Given the description of an element on the screen output the (x, y) to click on. 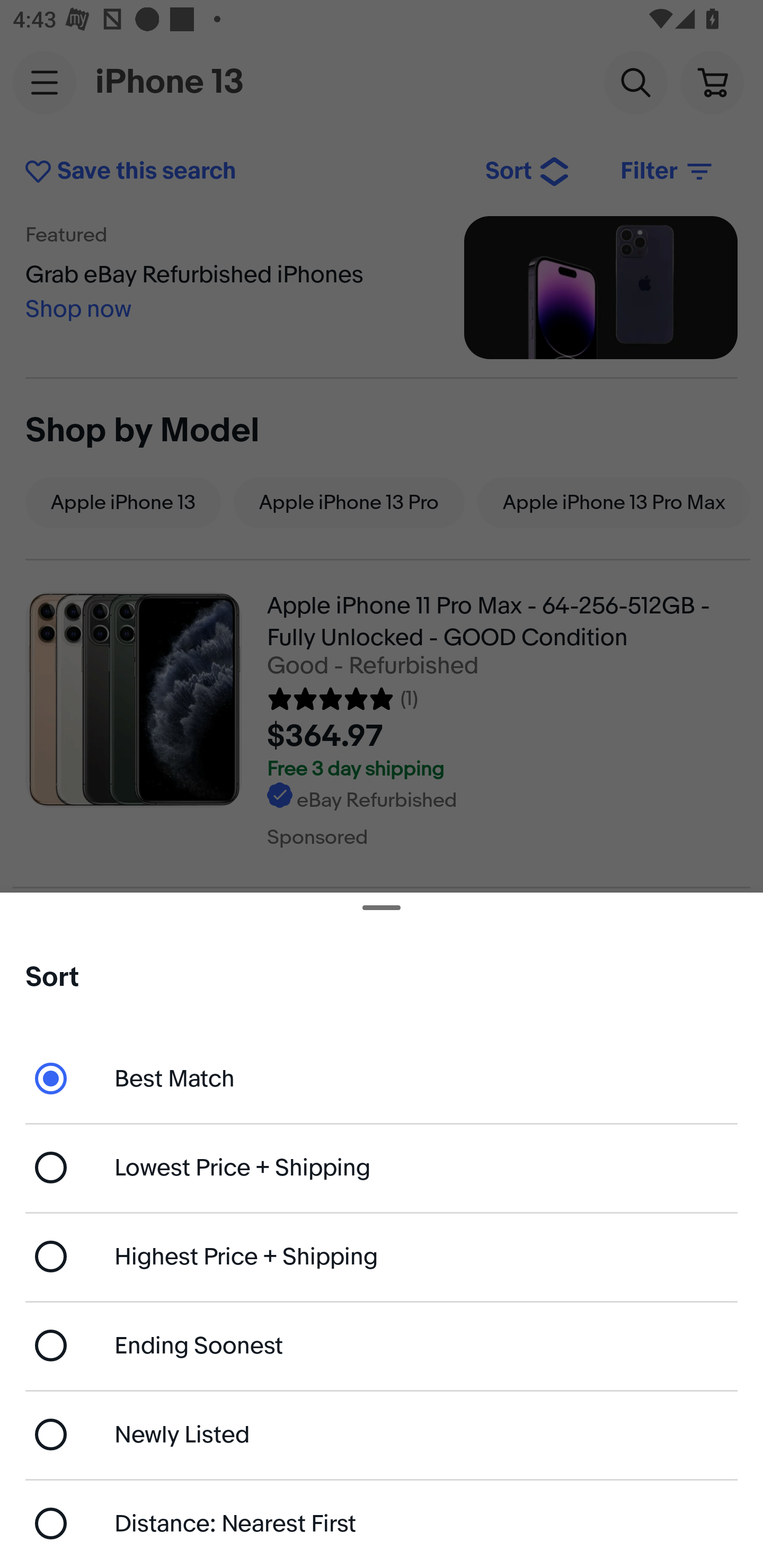
Best Match - currently selected Best Match (381, 1077)
Lowest Price + Shipping (381, 1167)
Highest Price + Shipping (381, 1256)
Ending Soonest (381, 1345)
Newly Listed (381, 1433)
Distance: Nearest First (381, 1523)
